Given the description of an element on the screen output the (x, y) to click on. 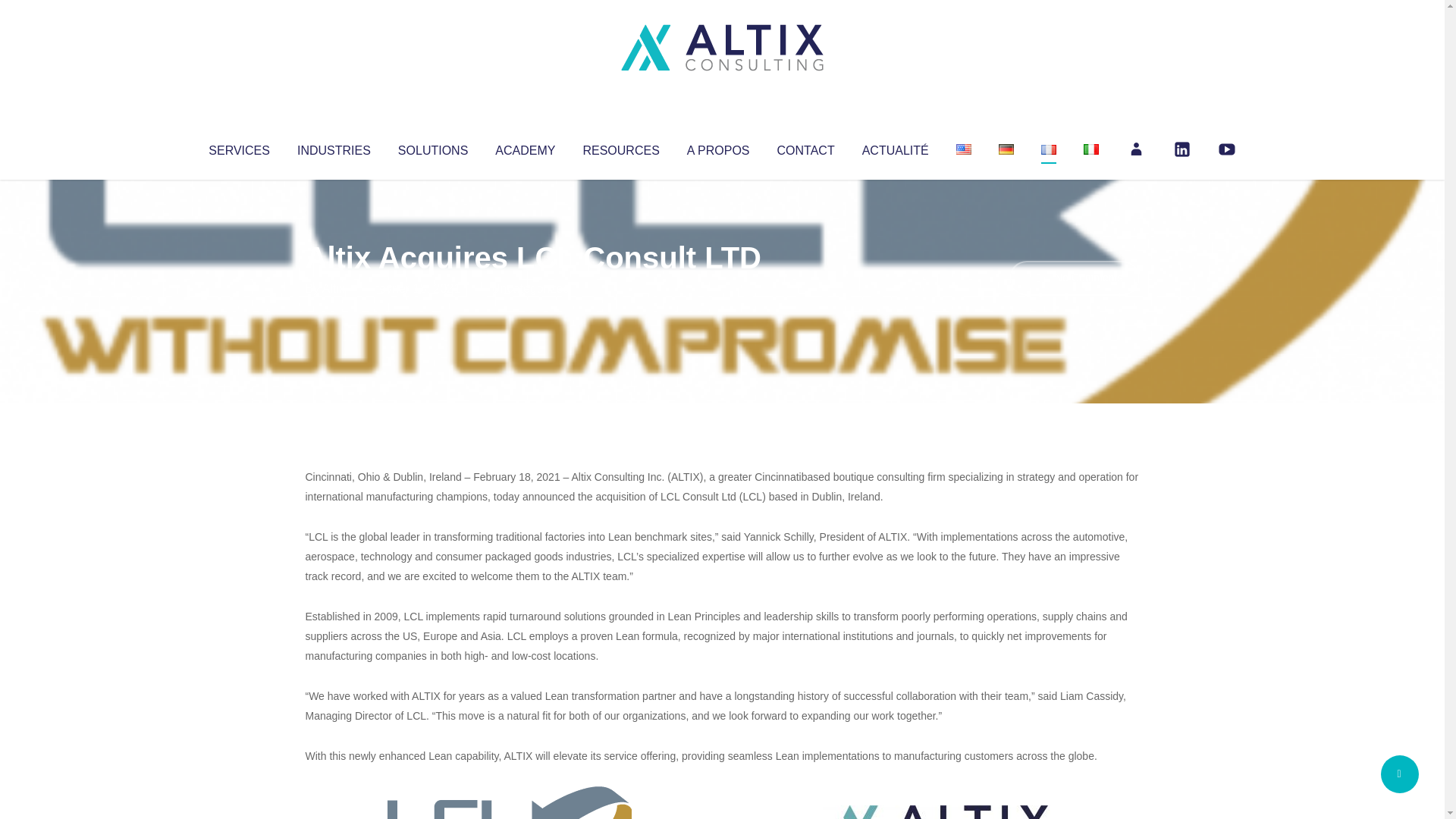
A PROPOS (718, 146)
RESOURCES (620, 146)
Uncategorized (530, 287)
No Comments (1073, 278)
Articles par Altix (333, 287)
SOLUTIONS (432, 146)
INDUSTRIES (334, 146)
Altix (333, 287)
SERVICES (238, 146)
ACADEMY (524, 146)
